Given the description of an element on the screen output the (x, y) to click on. 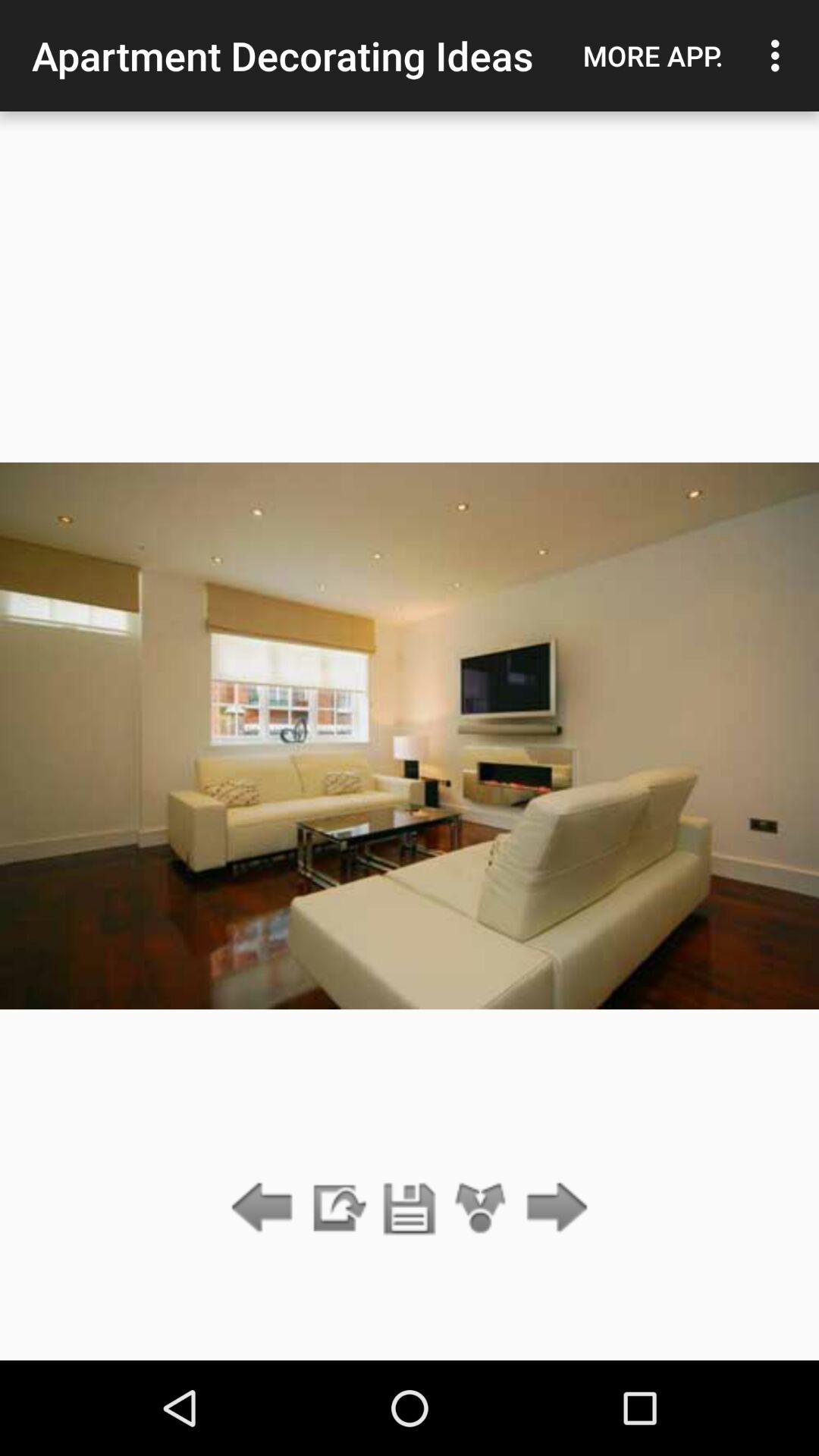
open the more app. icon (653, 55)
